Given the description of an element on the screen output the (x, y) to click on. 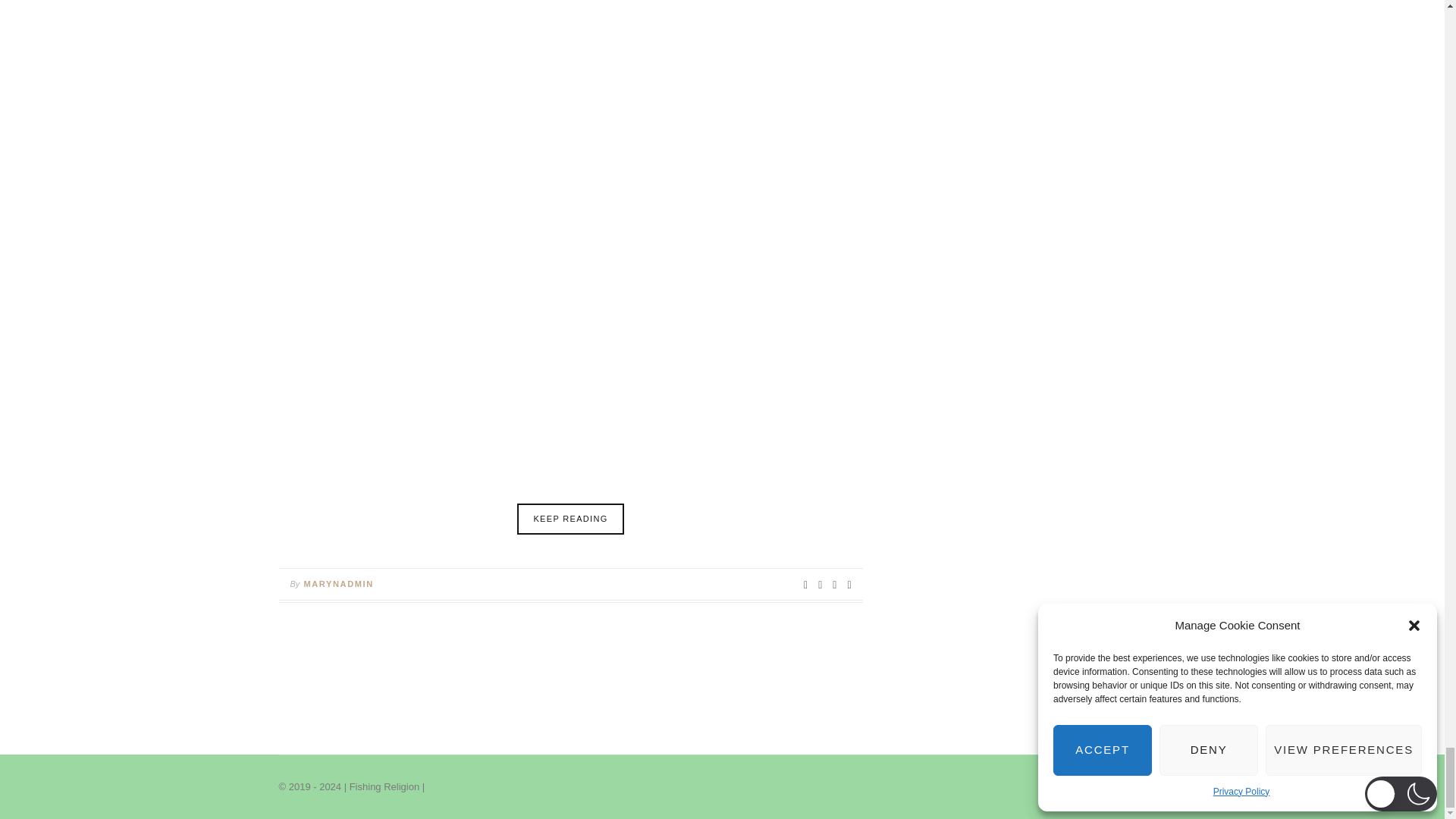
Posts by marynadmin (337, 583)
MARYNADMIN (337, 583)
KEEP READING (569, 518)
